Given the description of an element on the screen output the (x, y) to click on. 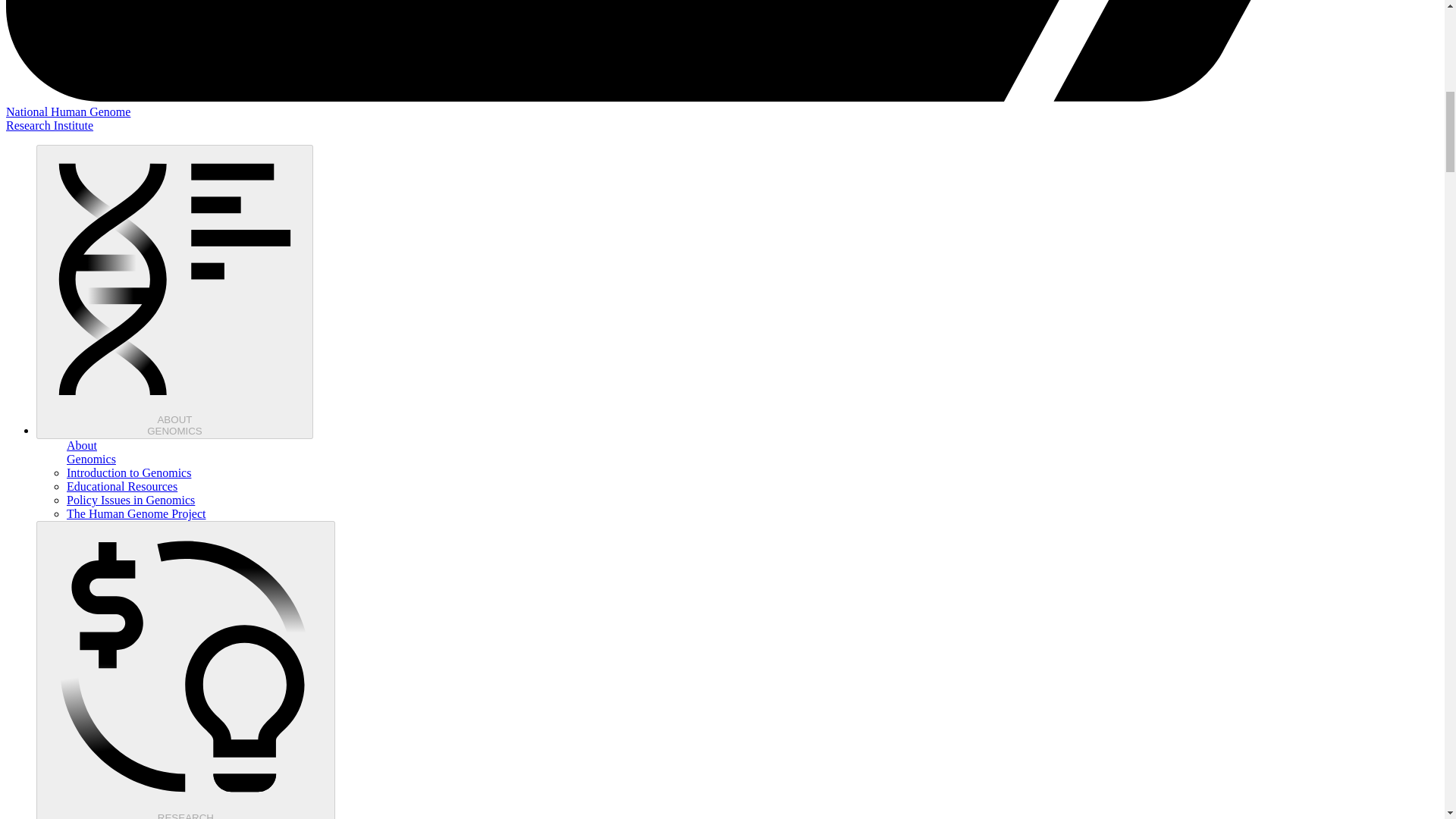
The Human Genome Project (136, 513)
Policy Issues in Genomics (130, 499)
Educational Resources (121, 486)
Introduction to Genomics (185, 669)
